Given the description of an element on the screen output the (x, y) to click on. 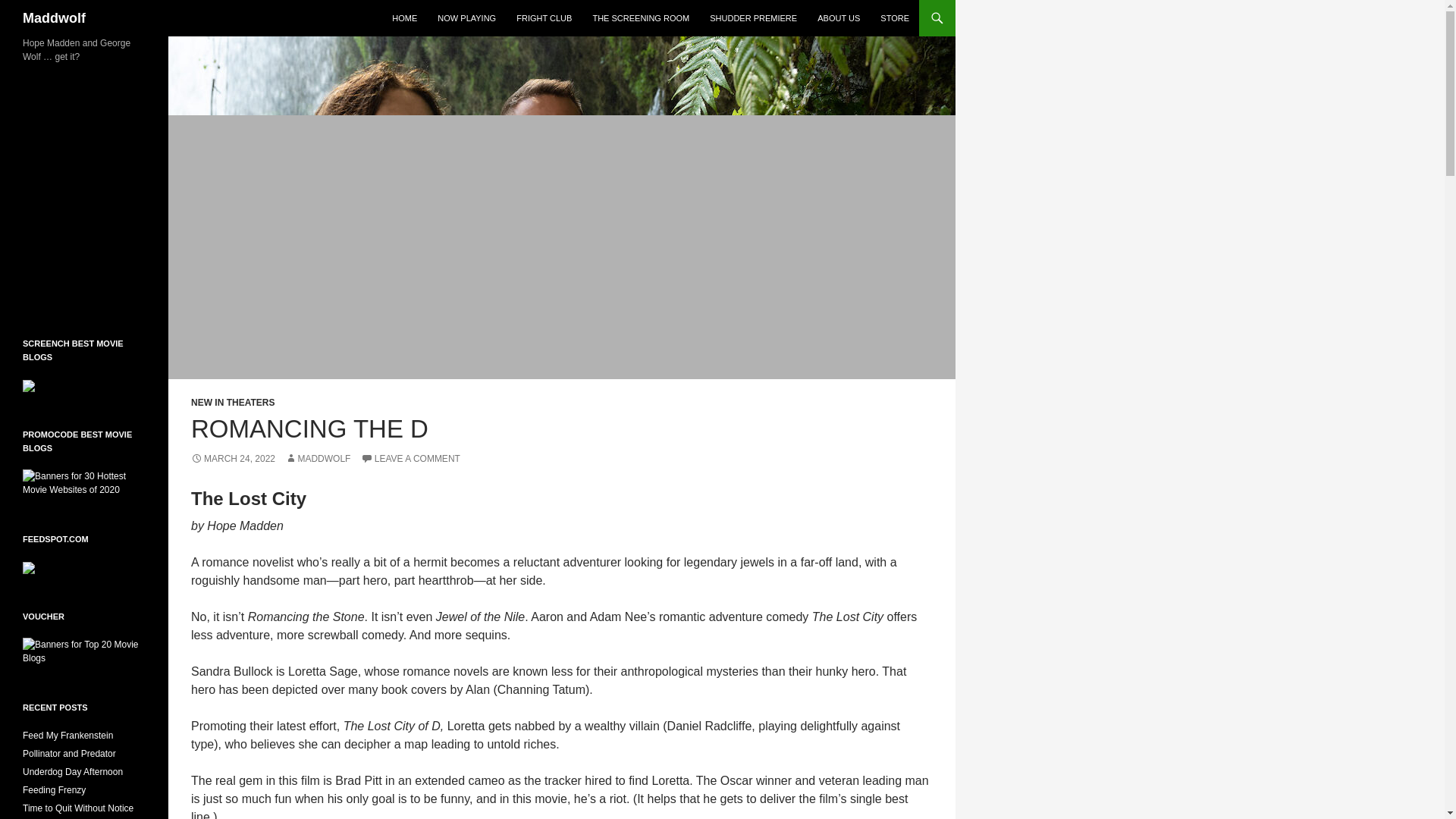
Movie blogs (28, 566)
MADDWOLF (317, 458)
NOW PLAYING (466, 18)
STORE (894, 18)
Pollinator and Predator (69, 753)
MARCH 24, 2022 (232, 458)
THE SCREENING ROOM (640, 18)
SHUDDER PREMIERE (753, 18)
Maddwolf (54, 18)
Banners for 30 Hottest Movie Websites of 2020 (84, 481)
